Given the description of an element on the screen output the (x, y) to click on. 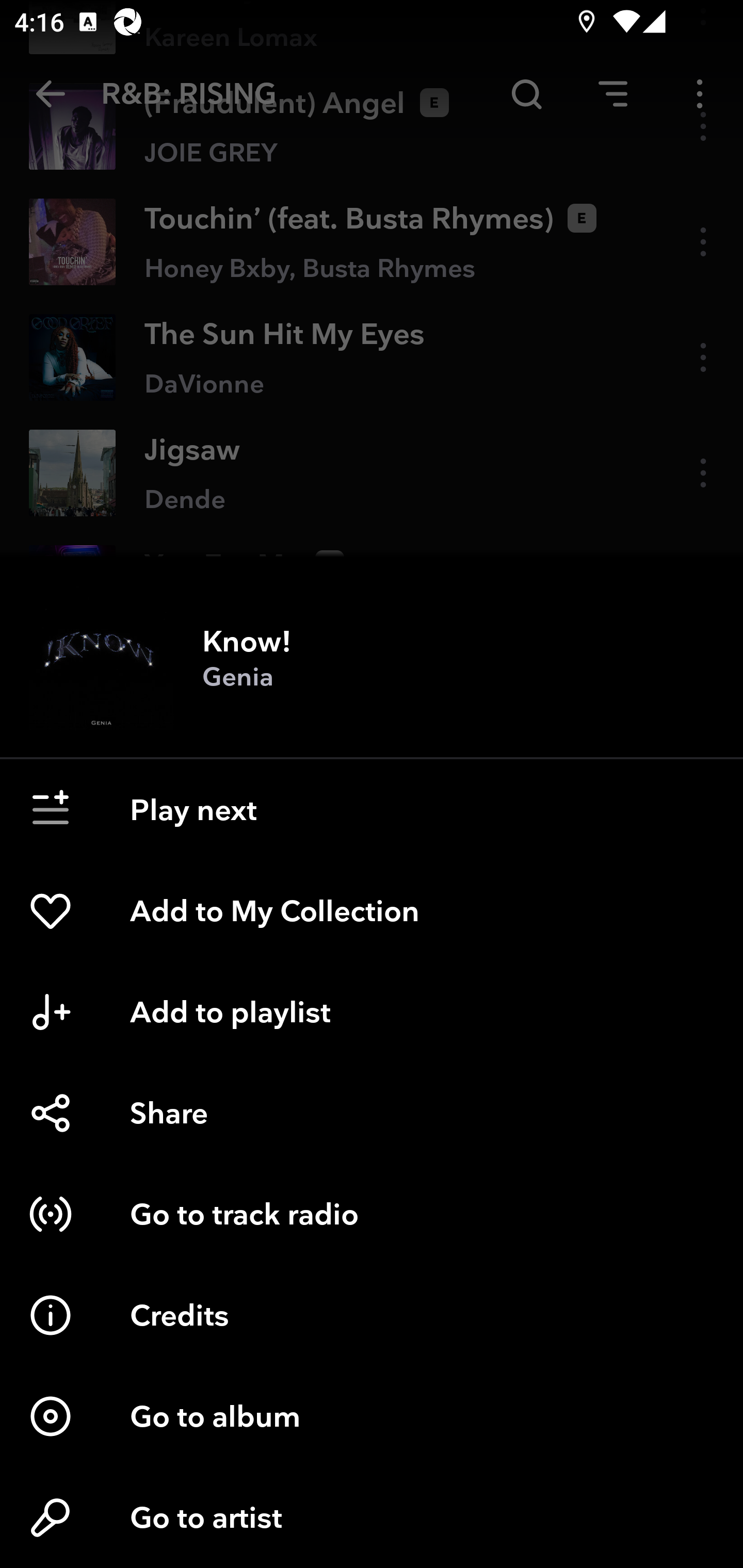
Play next (371, 809)
Add to My Collection (371, 910)
Add to playlist (371, 1012)
Share (371, 1113)
Go to track radio (371, 1214)
Credits (371, 1315)
Go to album (371, 1416)
Go to artist (371, 1517)
